Given the description of an element on the screen output the (x, y) to click on. 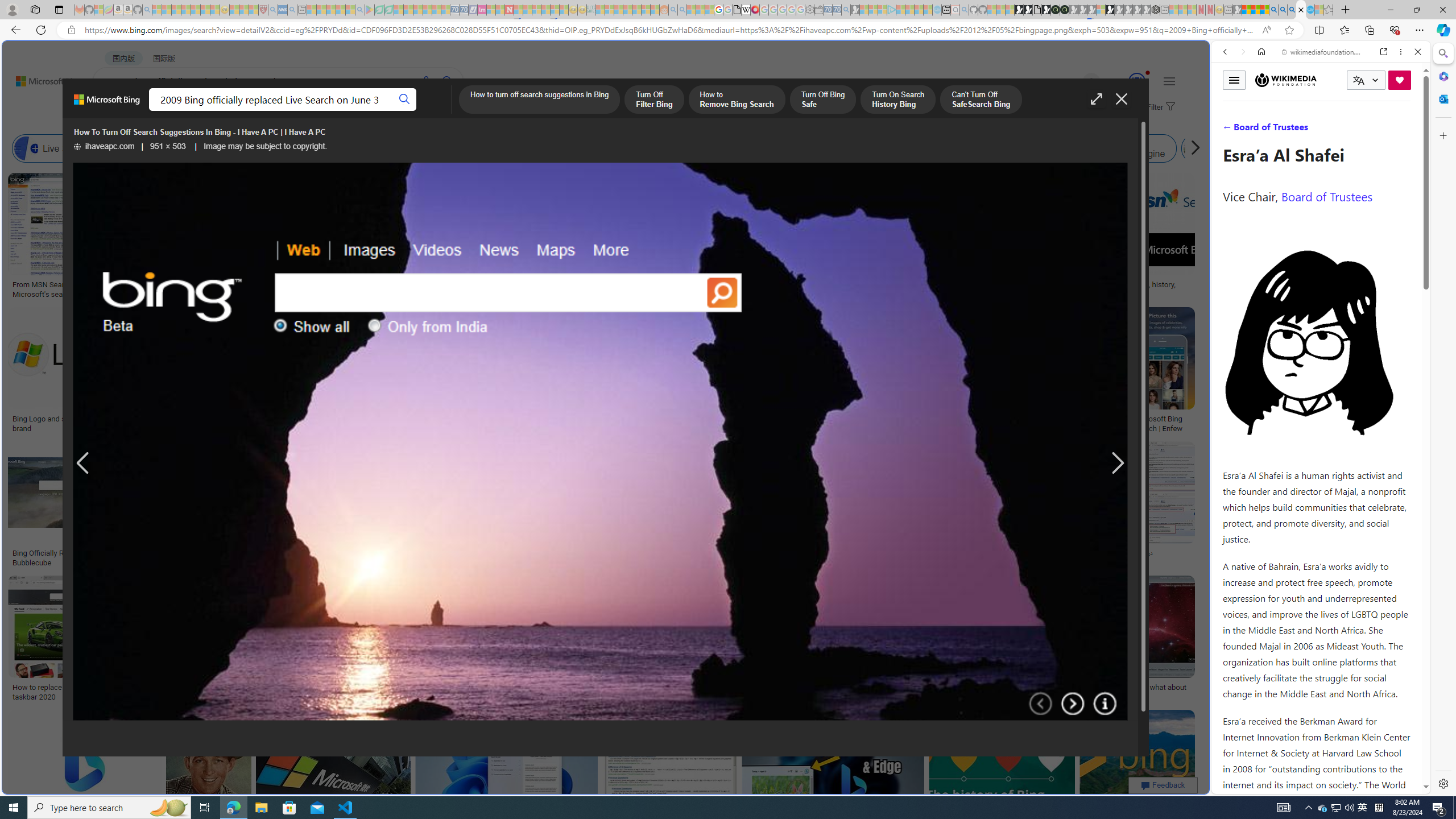
Can't Turn Off SafeSearch Bing (981, 100)
Owner of Bing Search Engine (1115, 148)
MSN Homepage Bing Search Engine (767, 148)
Settings - Sleeping (809, 9)
Next image result (1117, 463)
Https Bing Search Q MSN (1195, 148)
